Given the description of an element on the screen output the (x, y) to click on. 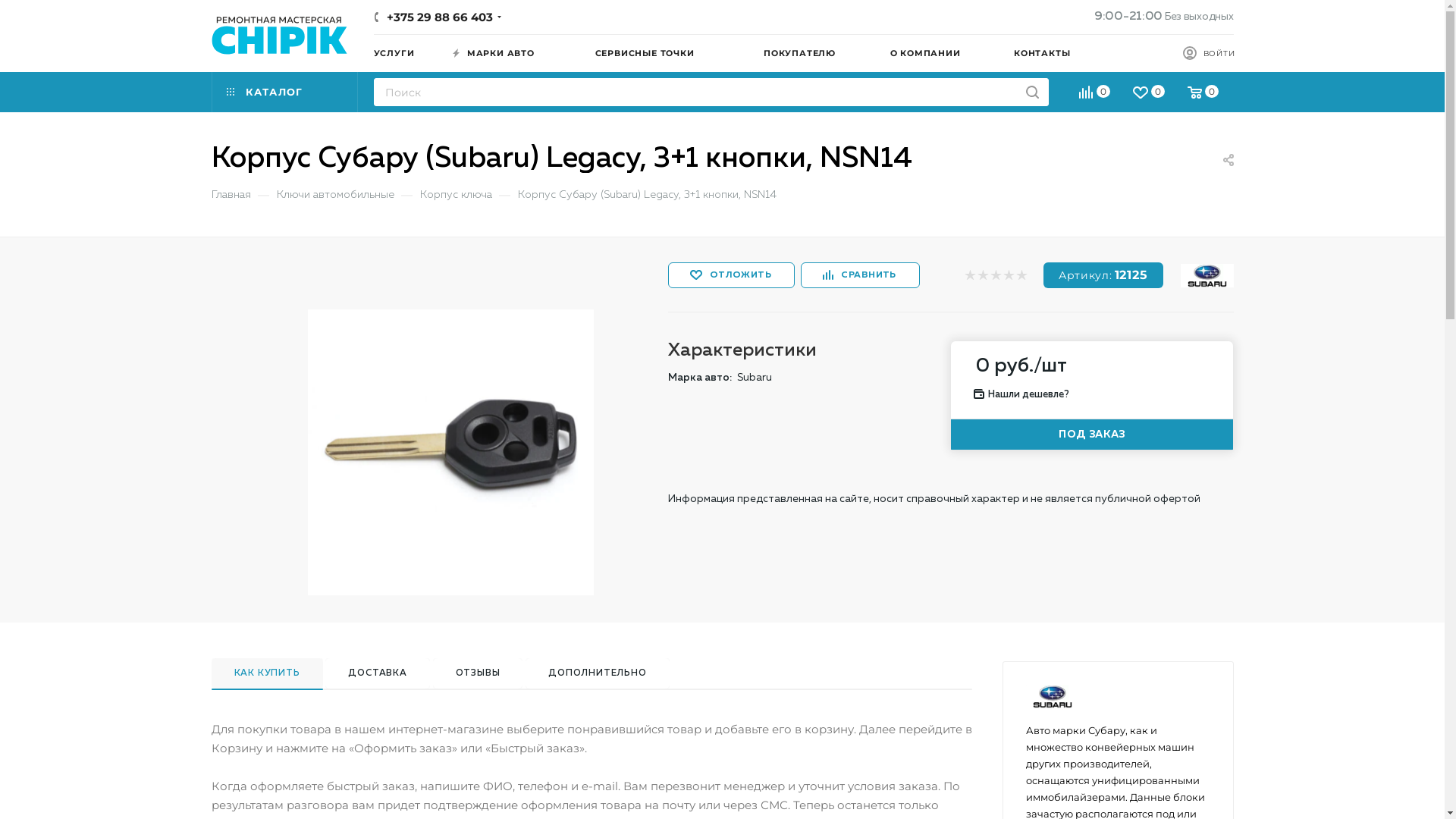
0 Element type: text (1149, 93)
0 Element type: text (1203, 93)
3 Element type: hover (994, 275)
Subaru Element type: hover (1051, 696)
0 Element type: text (1094, 93)
+375 29 88 66 403 Element type: text (439, 16)
5 Element type: hover (1020, 275)
2 Element type: hover (981, 275)
4 Element type: hover (1007, 275)
1 Element type: hover (969, 275)
Subaru Element type: hover (1206, 275)
